Given the description of an element on the screen output the (x, y) to click on. 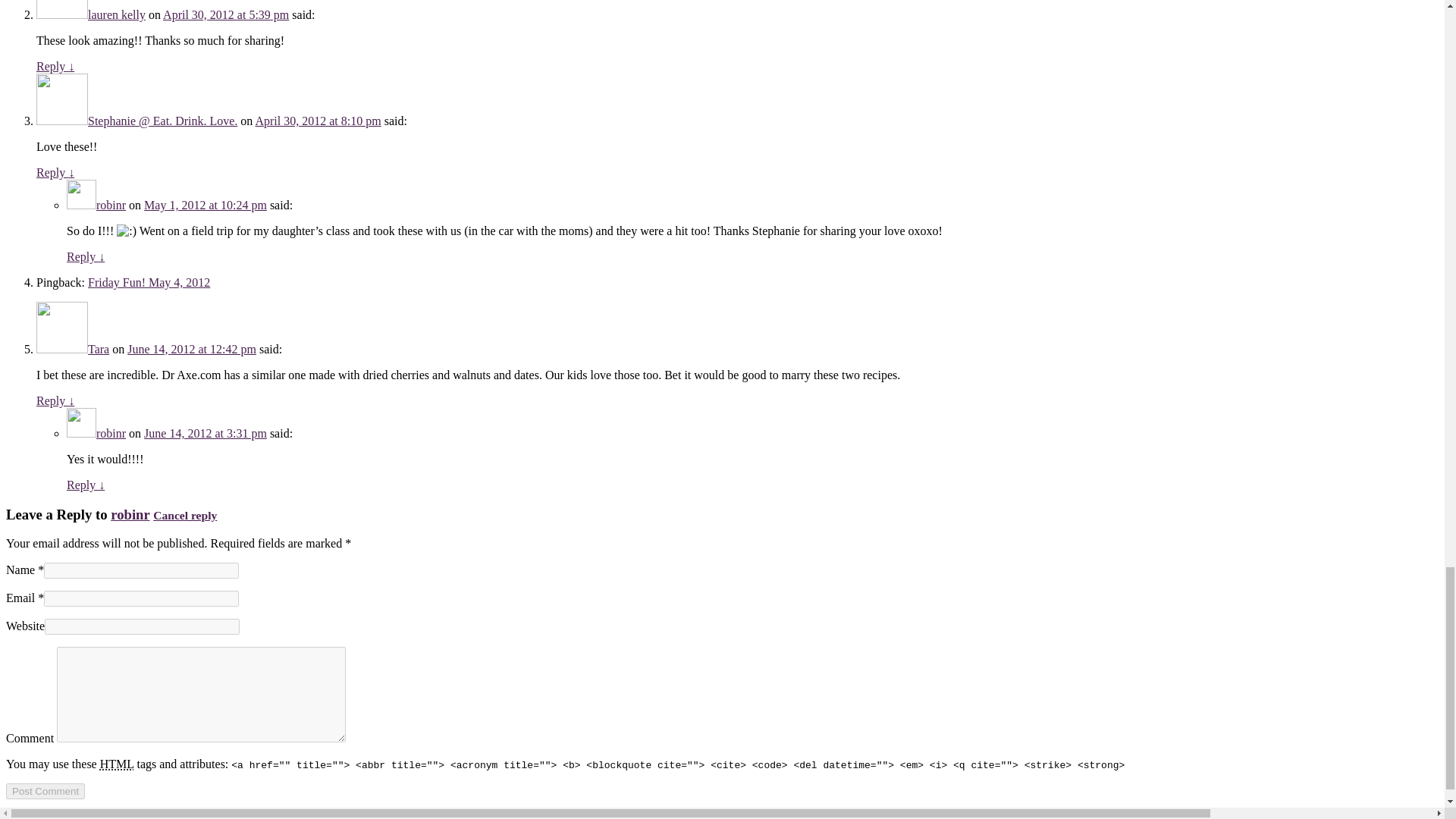
robinr (110, 432)
robinr (110, 205)
Friday Fun! May 4, 2012 (148, 282)
May 1, 2012 at 10:24 pm (205, 205)
Tara (98, 349)
HyperText Markup Language (116, 763)
June 14, 2012 at 12:42 pm (192, 349)
Post Comment (44, 790)
April 30, 2012 at 8:10 pm (317, 120)
lauren kelly (116, 14)
April 30, 2012 at 5:39 pm (225, 14)
